Given the description of an element on the screen output the (x, y) to click on. 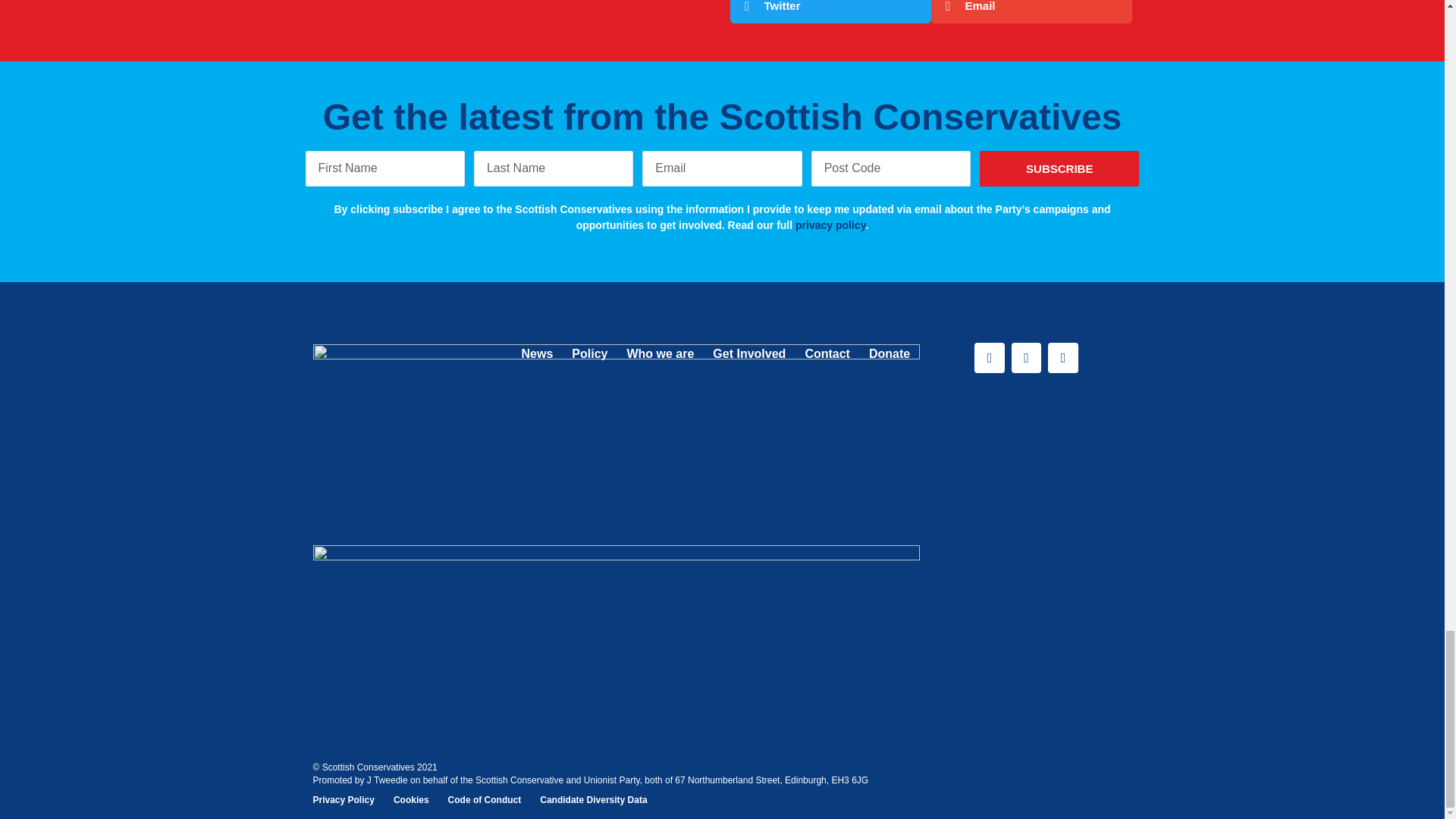
Who we are (660, 354)
Cookies (411, 799)
Contact (827, 354)
Donate (889, 354)
Privacy Policy (343, 799)
SUBSCRIBE (1058, 168)
Code of Conduct (484, 799)
Get Involved (749, 354)
privacy policy (829, 224)
News (537, 354)
Policy (589, 354)
